Given the description of an element on the screen output the (x, y) to click on. 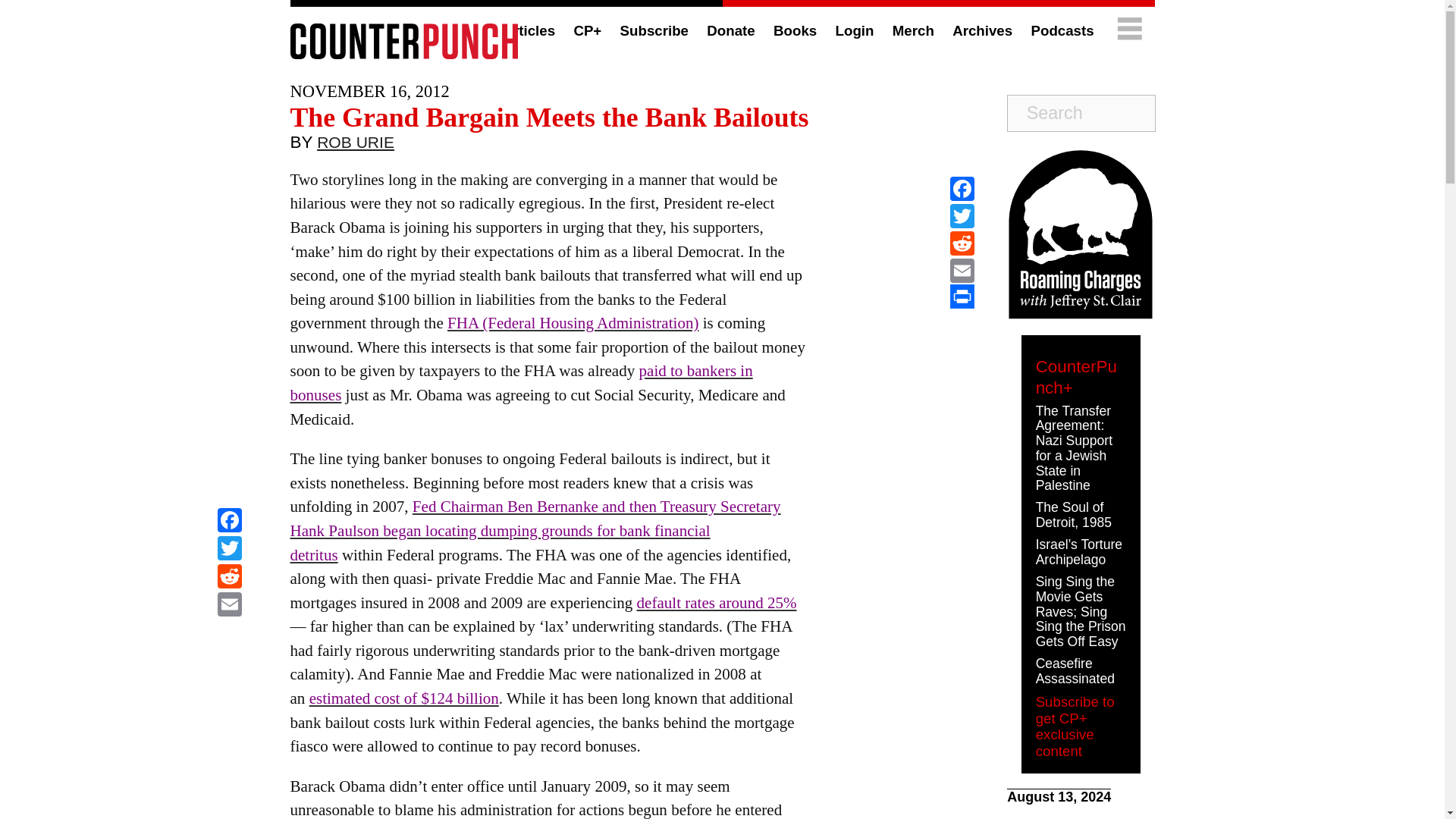
Email (229, 605)
Twitter (229, 550)
Login (855, 30)
Facebook (229, 521)
Email (962, 270)
Donate (730, 30)
Twitter (962, 216)
Facebook (962, 188)
Archives (981, 30)
Reddit (229, 578)
